Given the description of an element on the screen output the (x, y) to click on. 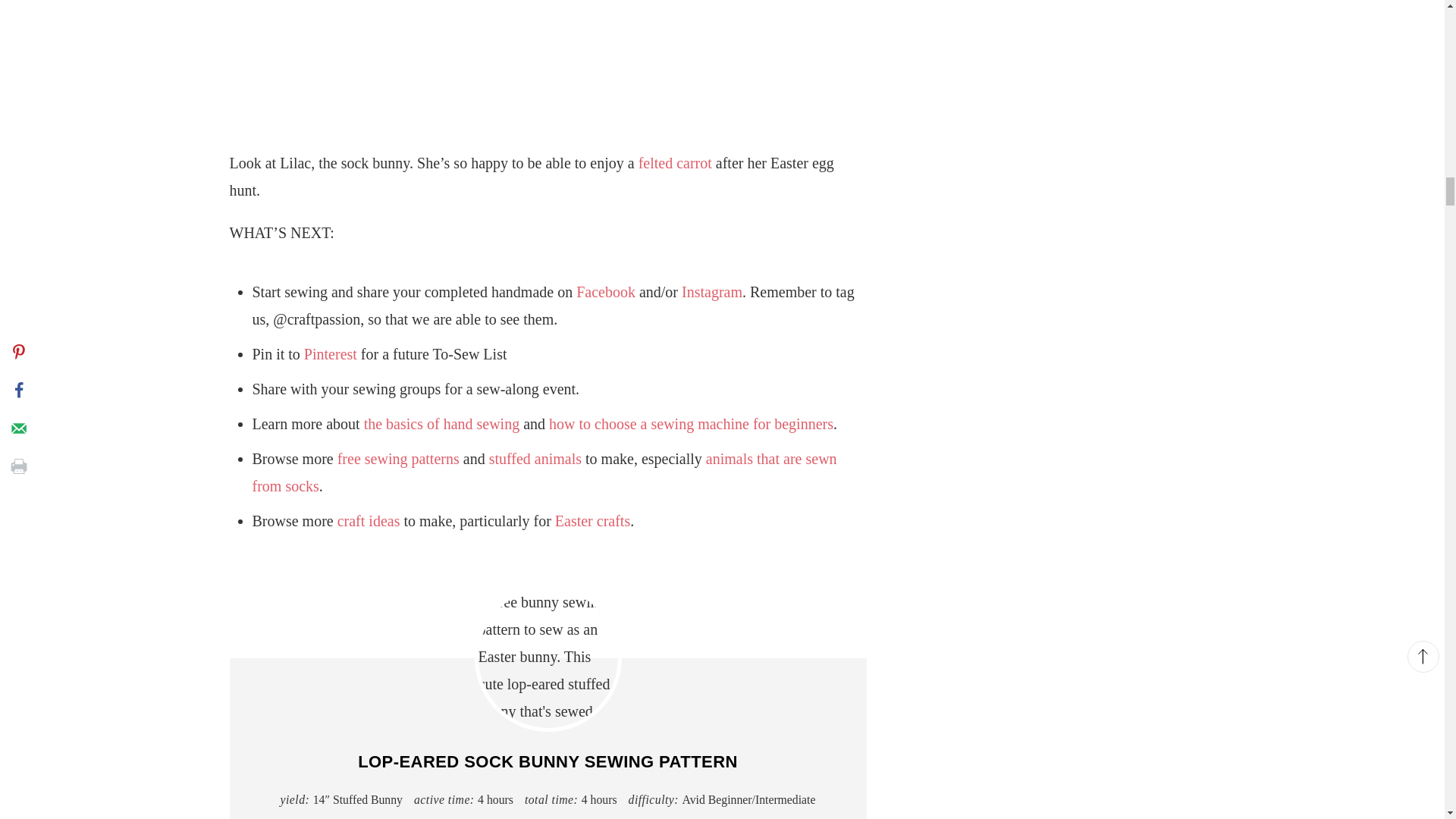
long ear sock bunny 1200 (547, 658)
felted carrot (675, 162)
bunny carrot 1200 (547, 59)
Instagram (711, 291)
Facebook (605, 291)
Pinterest (330, 353)
